Given the description of an element on the screen output the (x, y) to click on. 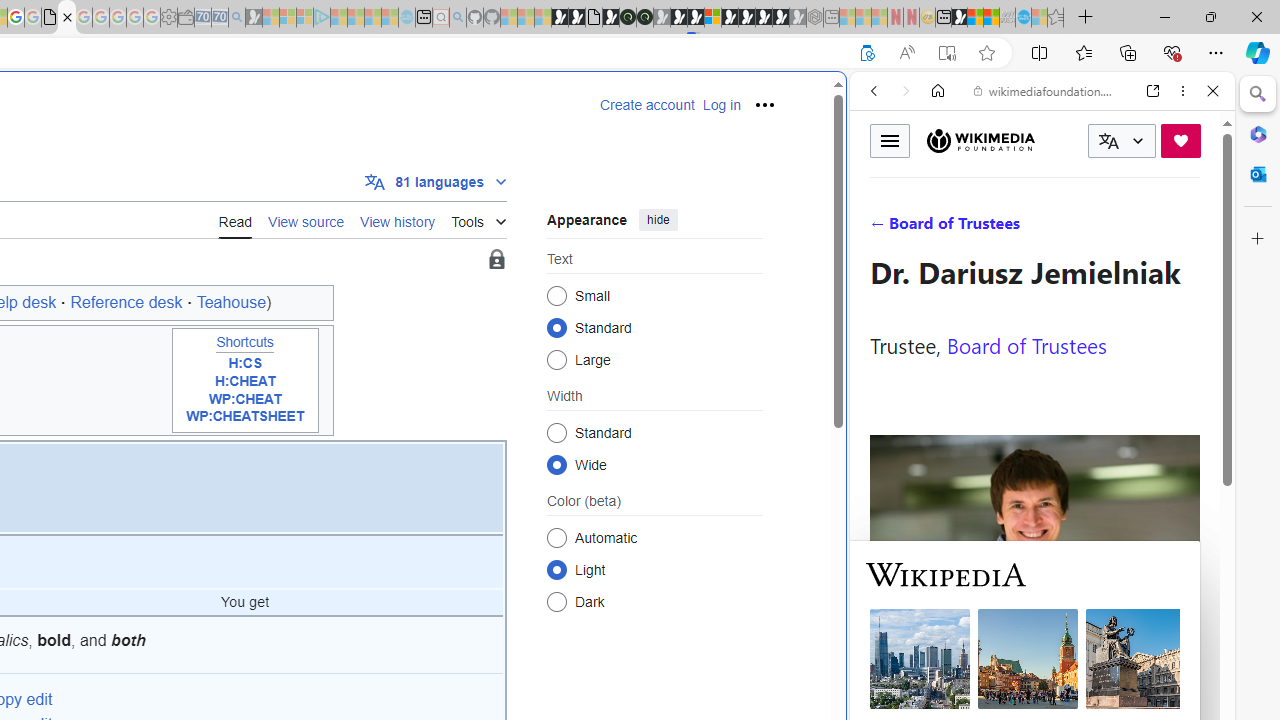
CURRENT LANGUAGE: (1121, 141)
Create account (647, 105)
Class: mw-list-item mw-list-item-js (654, 569)
Log in (721, 105)
Favorites - Sleeping (1055, 17)
Settings - Sleeping (168, 17)
